Given the description of an element on the screen output the (x, y) to click on. 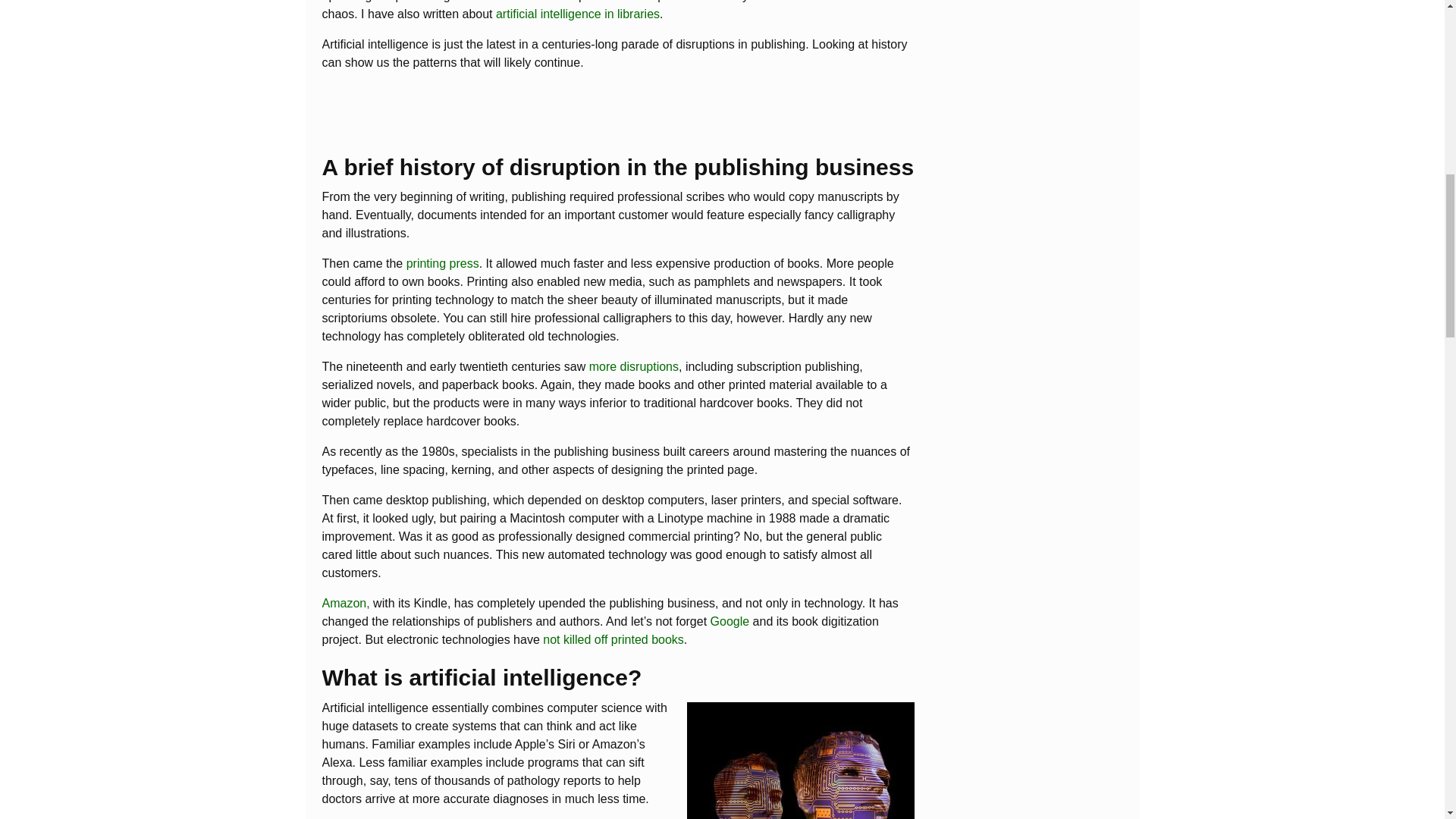
not killed off printed books (613, 639)
printing press (442, 263)
more disruptions (633, 366)
Amazon, (346, 603)
Google (729, 621)
artificial intelligence in libraries (577, 13)
